Given the description of an element on the screen output the (x, y) to click on. 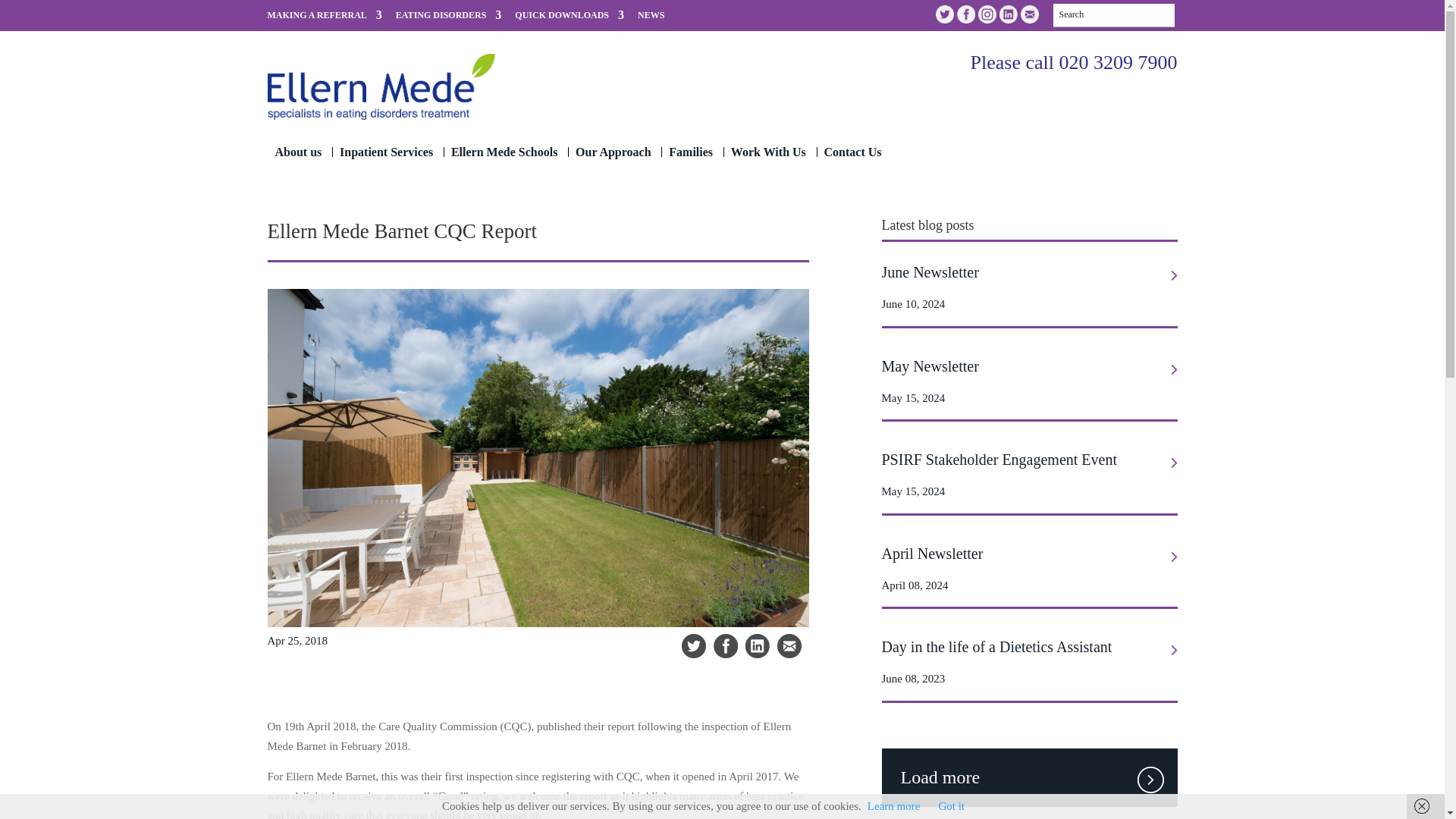
PSIRF Stakeholder Engagement Event (1028, 459)
April Newsletter (1028, 553)
Day in the life of a Dietetics Assistant (1028, 646)
June Newsletter (1028, 272)
May Newsletter (1028, 365)
